Given the description of an element on the screen output the (x, y) to click on. 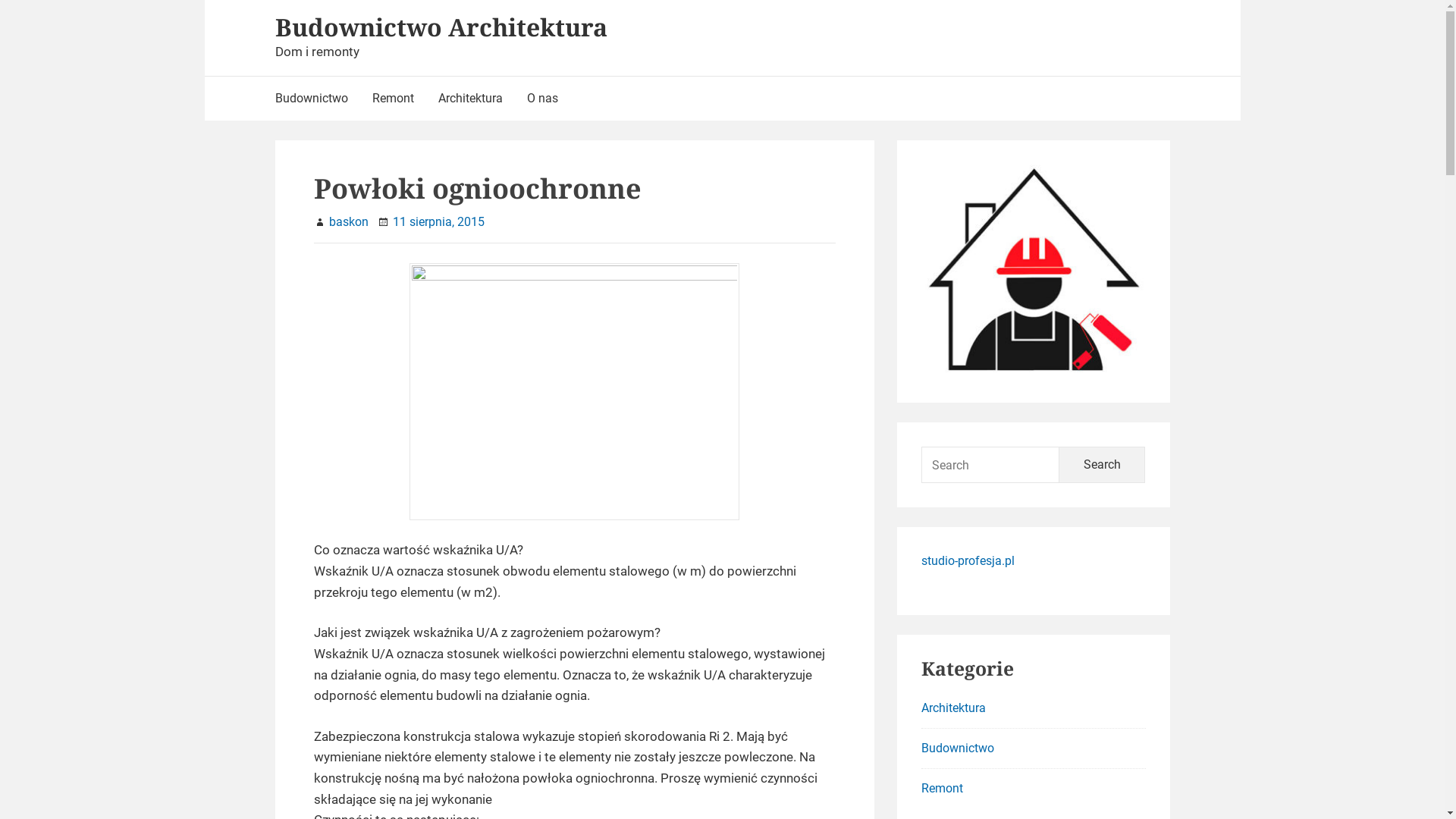
baskon Element type: text (348, 221)
Remont Element type: text (392, 98)
Budownictwo Architektura Element type: text (440, 26)
Architektura Element type: text (953, 707)
Search for: Element type: hover (990, 464)
O nas Element type: text (541, 98)
Architektura Element type: text (470, 98)
Budownictwo Element type: text (957, 747)
studio-profesja.pl Element type: text (967, 560)
Budownictwo Element type: text (316, 98)
Remont Element type: text (942, 788)
Search Element type: text (1102, 464)
11 sierpnia, 2015 Element type: text (438, 221)
